Given the description of an element on the screen output the (x, y) to click on. 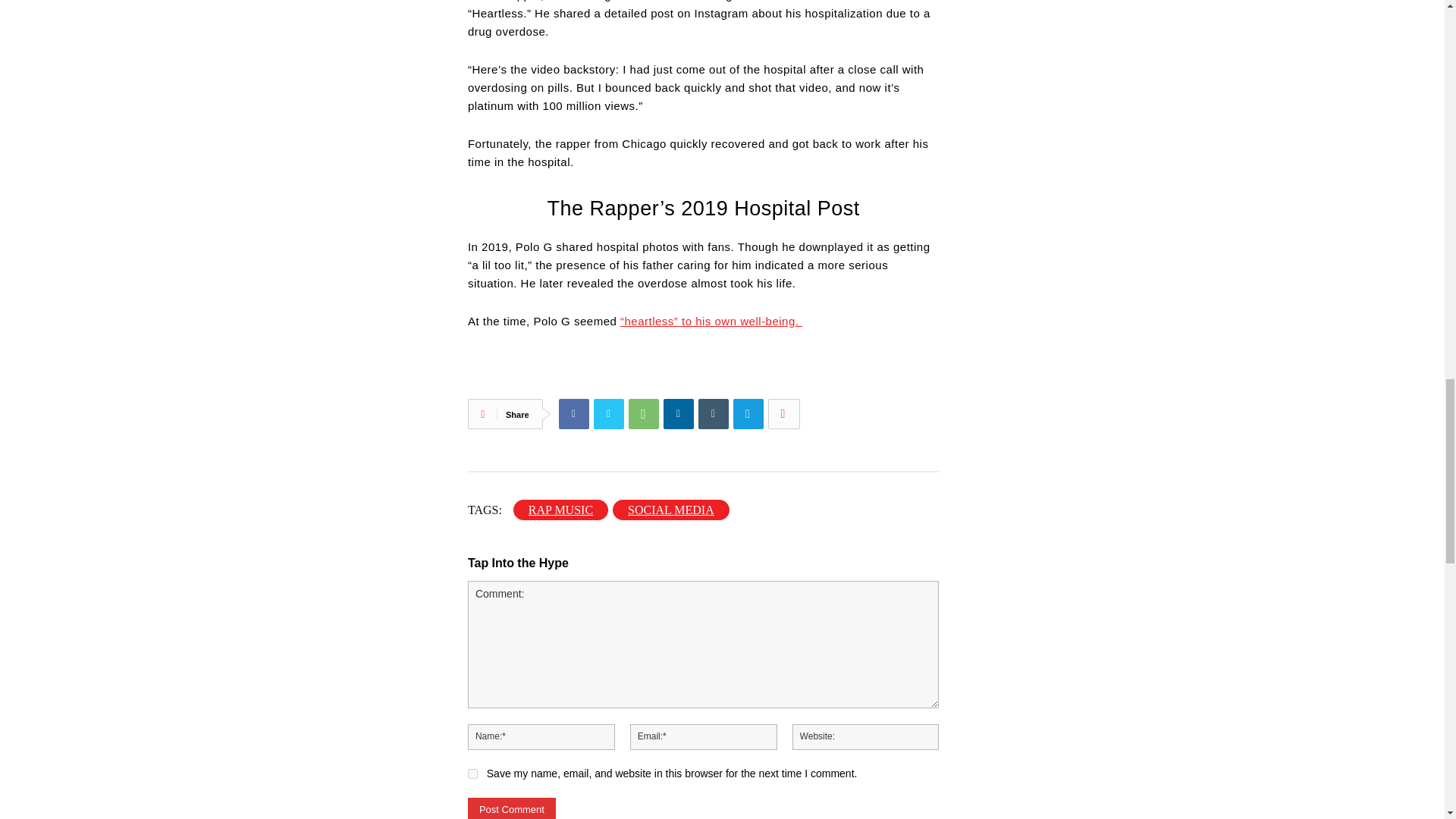
yes (472, 773)
Post Comment (511, 808)
